Given the description of an element on the screen output the (x, y) to click on. 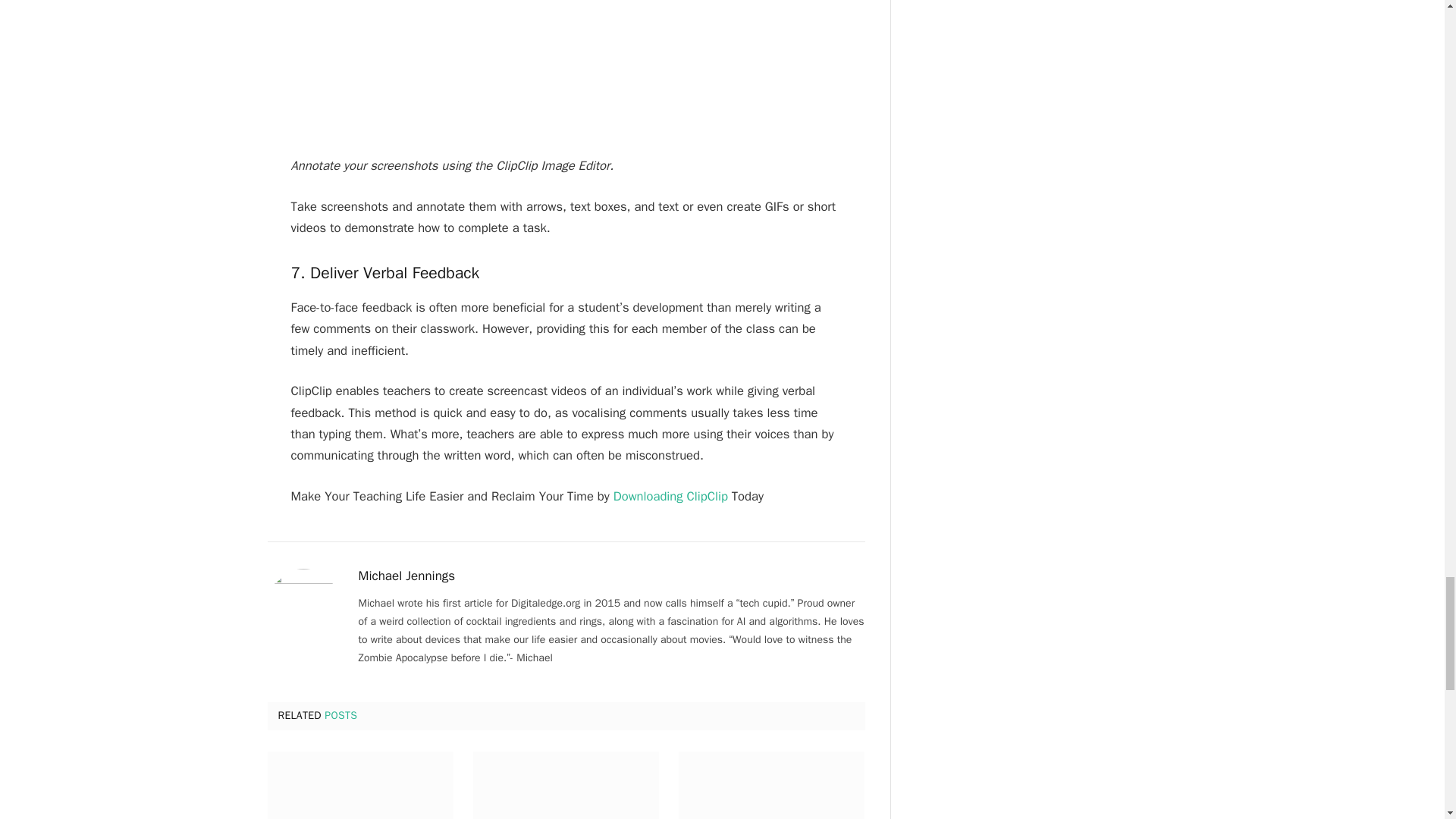
How Strawberry Cough Can Enhance Your Mental Clarity? (359, 785)
Simple Tips to Reduce Your Small Business Insurance Expenses (771, 785)
Posts by Michael Jennings (406, 575)
